Given the description of an element on the screen output the (x, y) to click on. 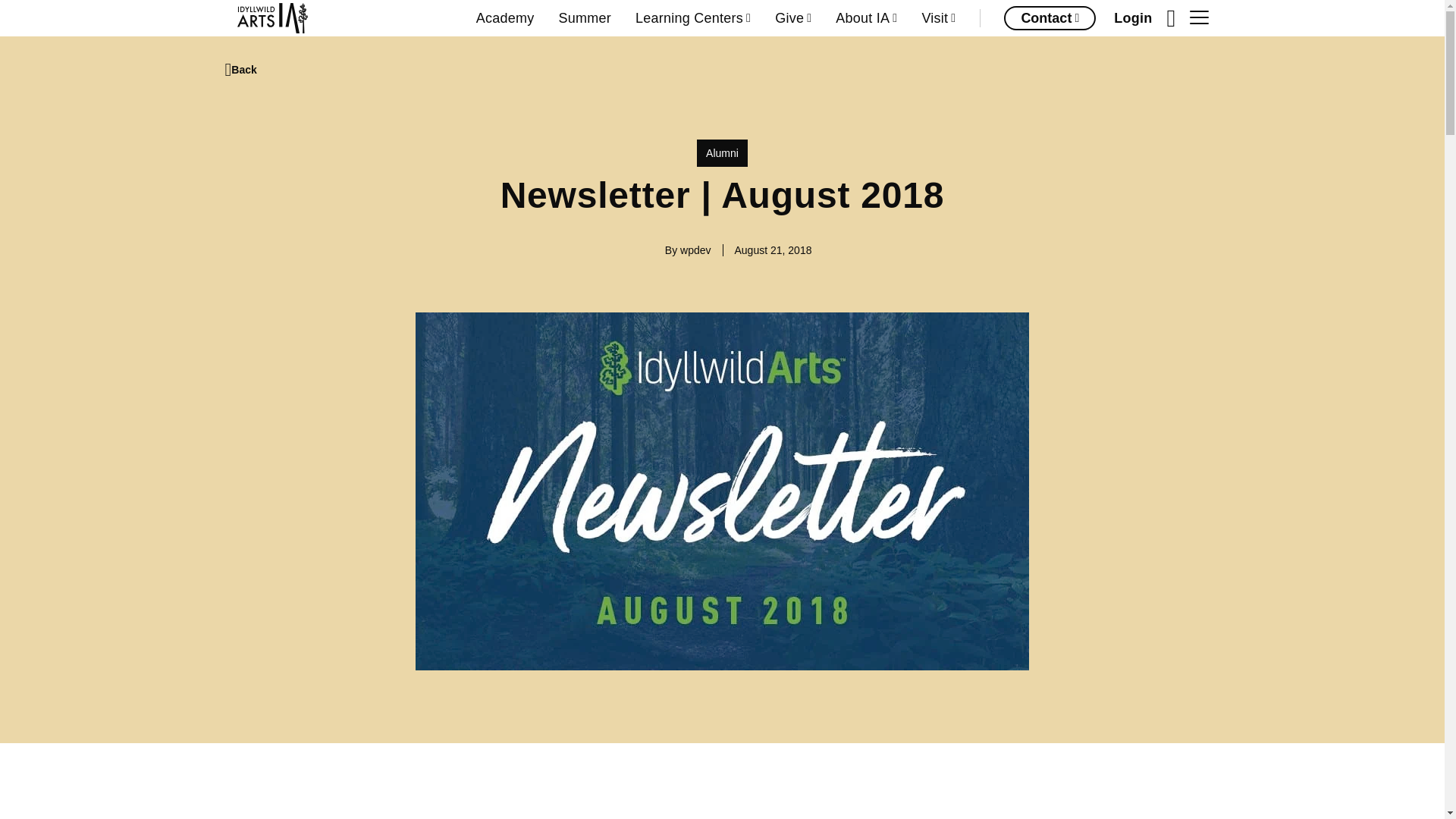
Learning Centers (692, 18)
Academy (505, 18)
Login (1132, 18)
Visit (938, 18)
Contact (1050, 17)
About IA (865, 18)
Summer (584, 18)
Give (792, 18)
